Given the description of an element on the screen output the (x, y) to click on. 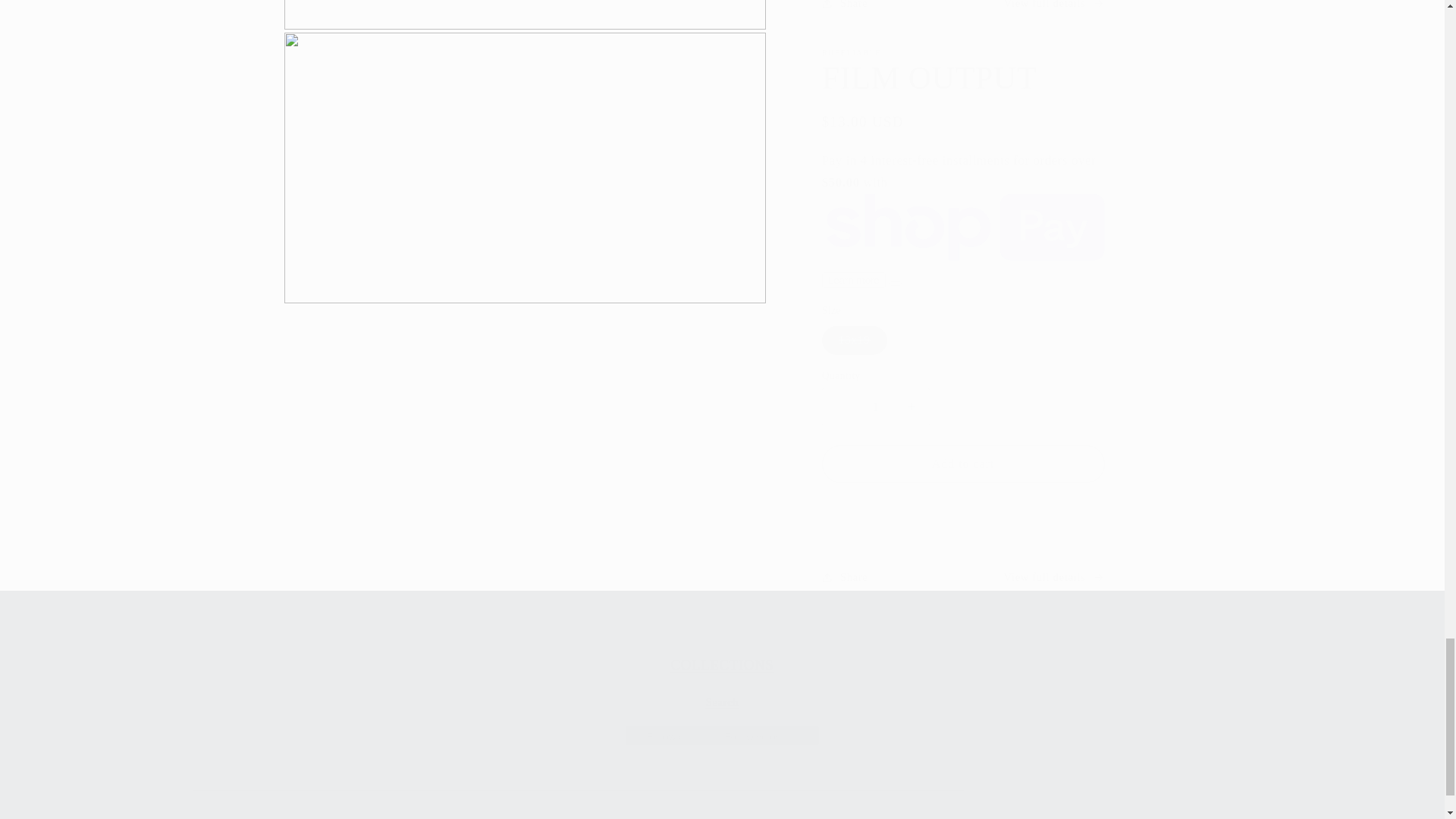
Open media 1 in modal (721, 670)
All collections (722, 686)
Open media 1 in modal (524, 169)
